Given the description of an element on the screen output the (x, y) to click on. 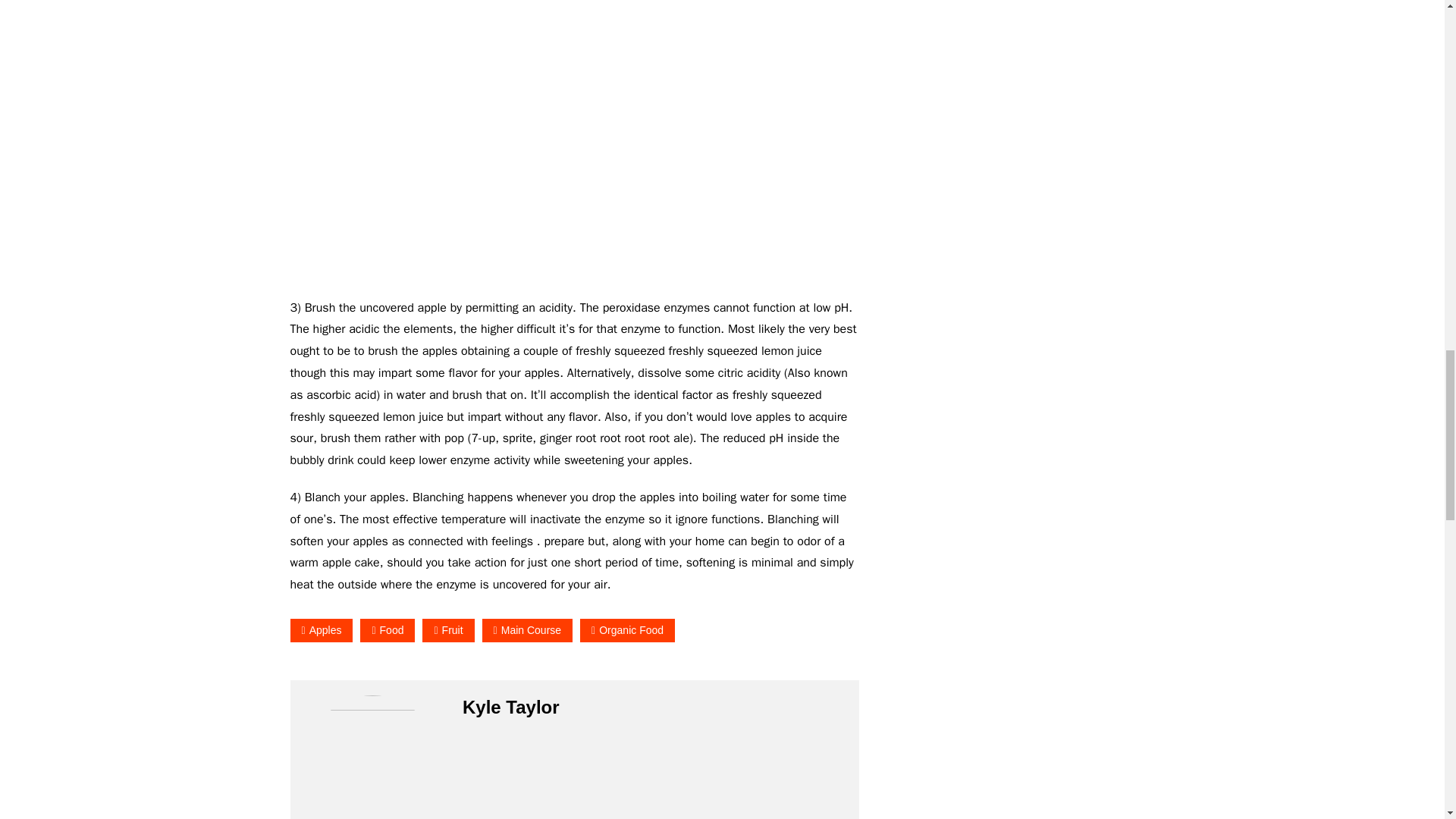
Apples (320, 630)
Food (386, 630)
Main Course (527, 630)
Organic Food (627, 630)
Fruit (448, 630)
